Given the description of an element on the screen output the (x, y) to click on. 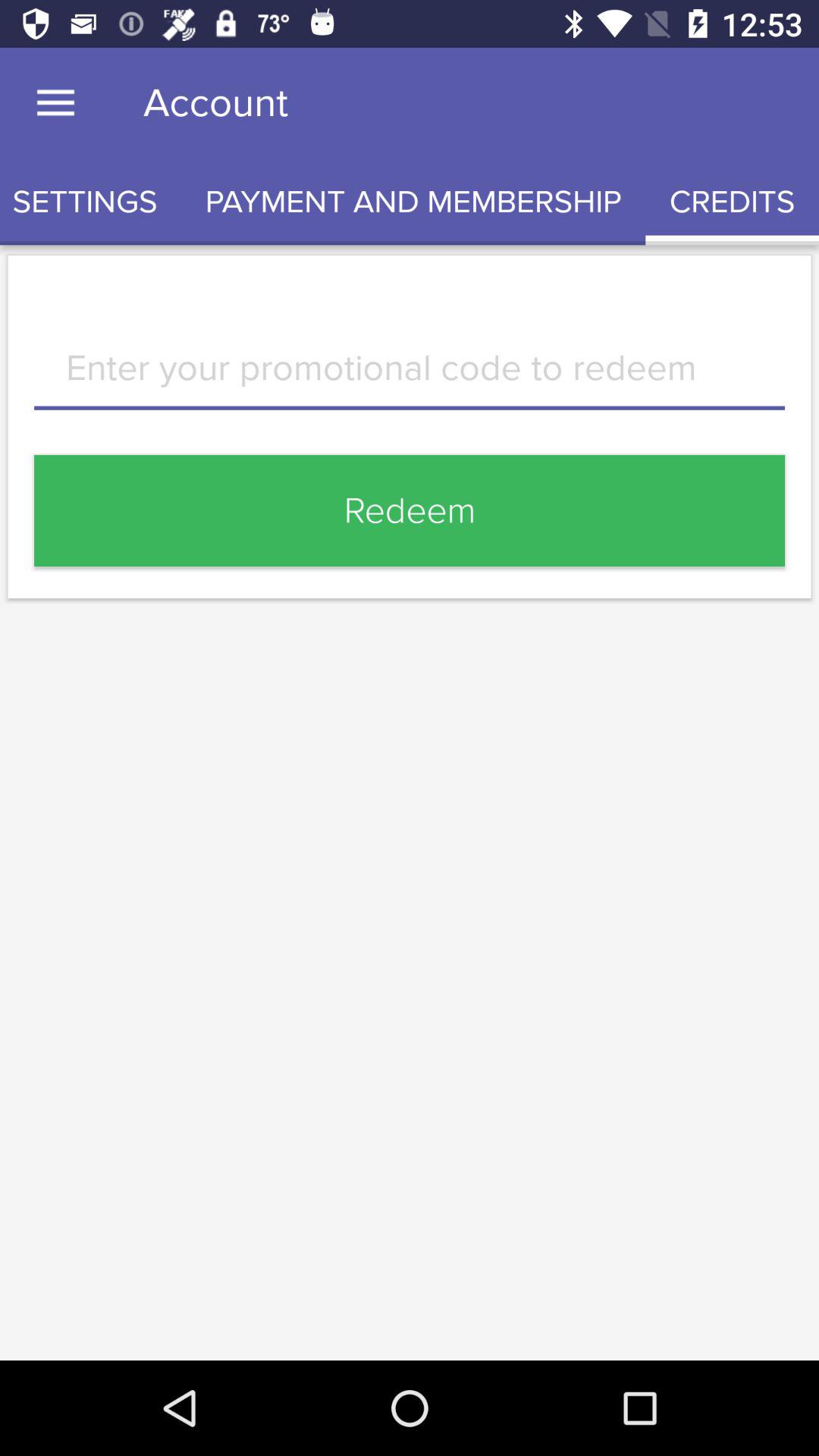
enter promotional code (409, 379)
